Given the description of an element on the screen output the (x, y) to click on. 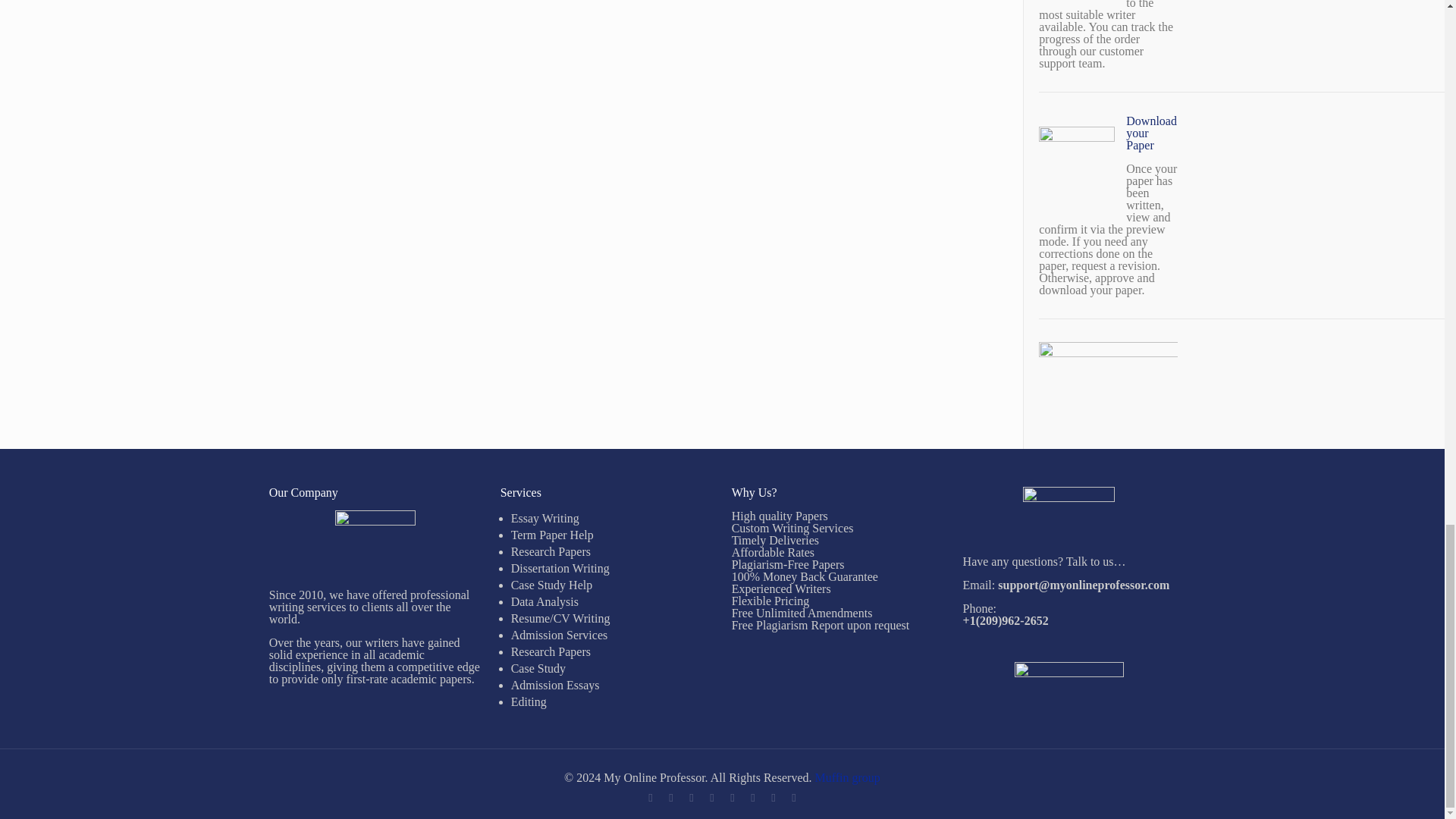
Pinterest (772, 797)
Facebook (670, 797)
Instagram (794, 797)
LinkedIn (752, 797)
YouTube (731, 797)
Skype (650, 797)
Twitter (711, 797)
Muffin group (846, 777)
